Given the description of an element on the screen output the (x, y) to click on. 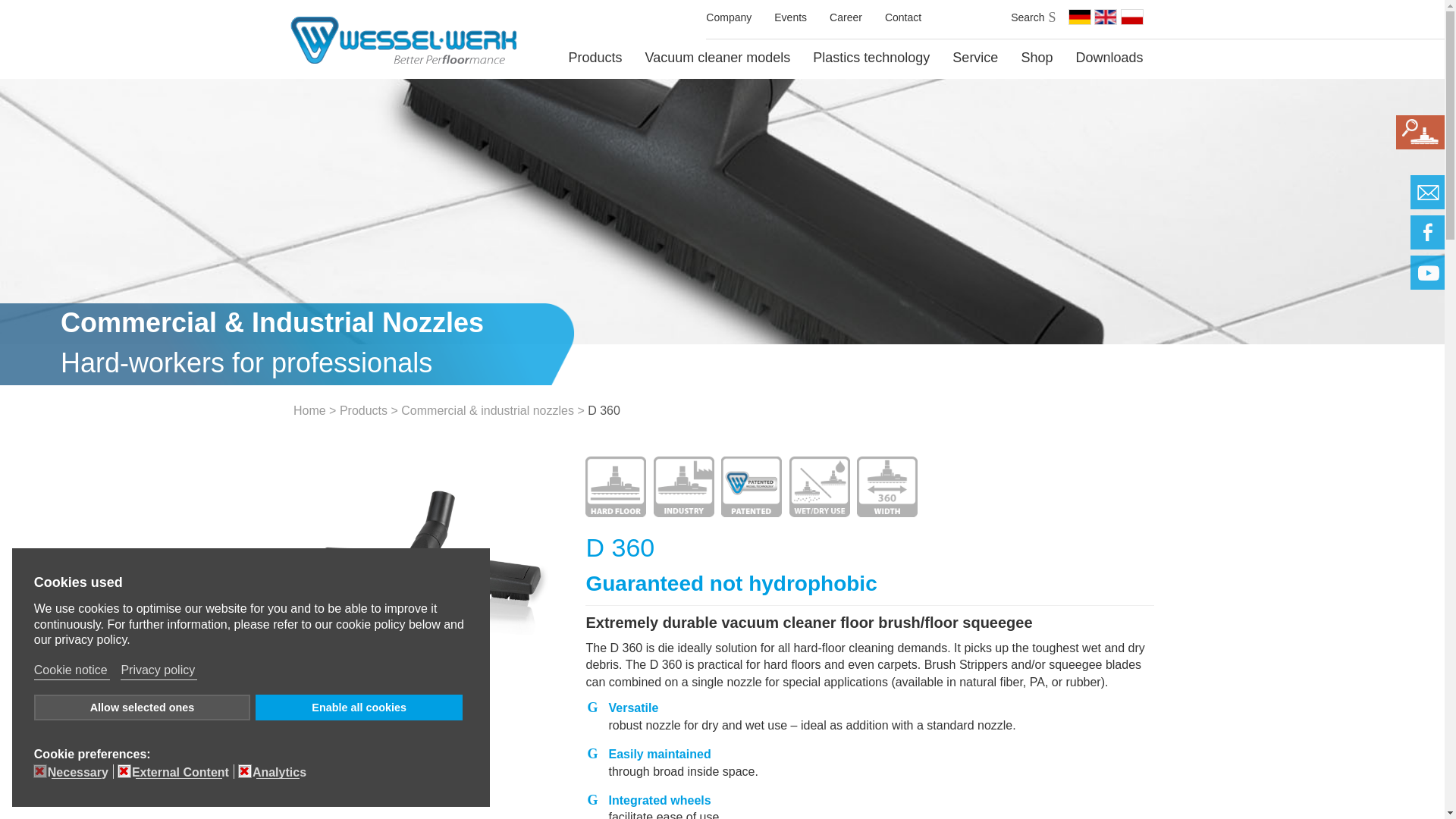
Contact (903, 19)
Career (845, 19)
Analytics (281, 771)
External Content (183, 771)
Company (728, 19)
d-360-unten (332, 707)
Privacy policy (158, 670)
Allow selected ones (141, 707)
Events (790, 19)
Necessary (80, 771)
Vacuum cleaner models (717, 59)
Products (594, 59)
Enable all cookies (359, 707)
Search (1030, 18)
